Given the description of an element on the screen output the (x, y) to click on. 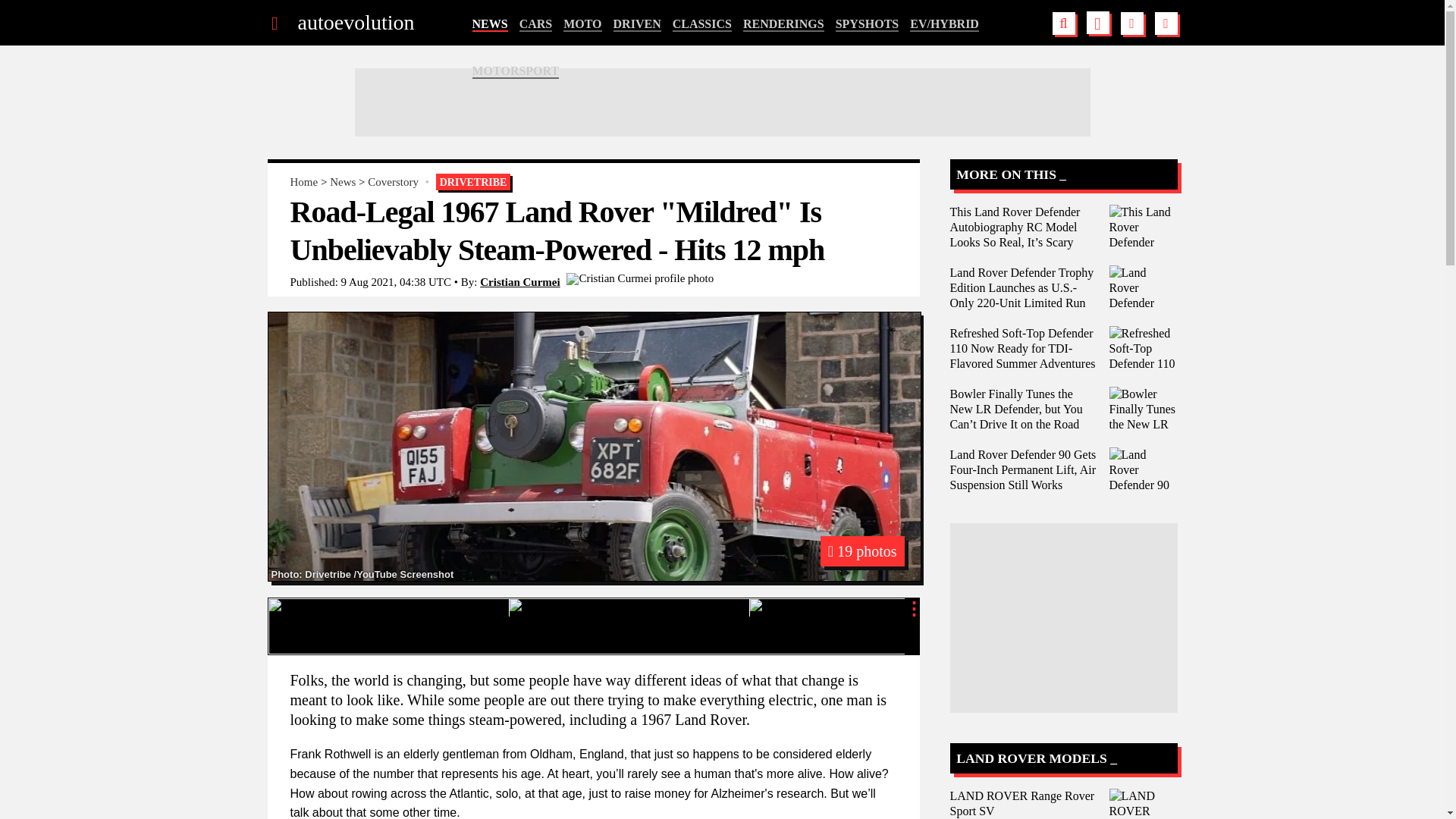
RENDERINGS (783, 24)
autoevolution (355, 22)
MOTORSPORT (515, 71)
autoevolution (355, 22)
NEWS (488, 24)
CARS (536, 24)
CLASSICS (702, 24)
Home (303, 182)
MOTO (582, 24)
SPYSHOTS (867, 24)
